Given the description of an element on the screen output the (x, y) to click on. 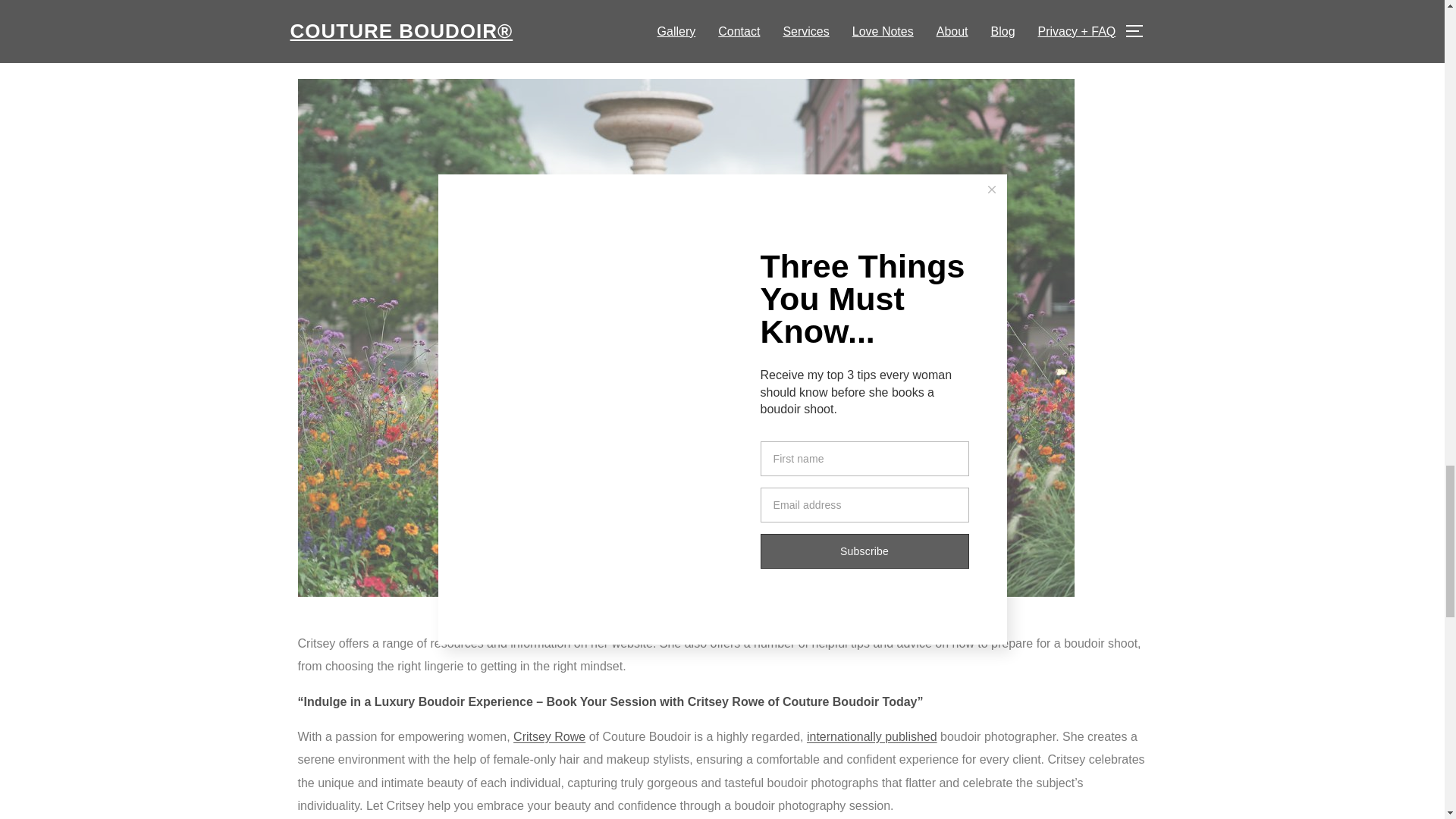
Critsey Rowe (549, 736)
internationally published (871, 736)
throughout Europe (713, 6)
